Given the description of an element on the screen output the (x, y) to click on. 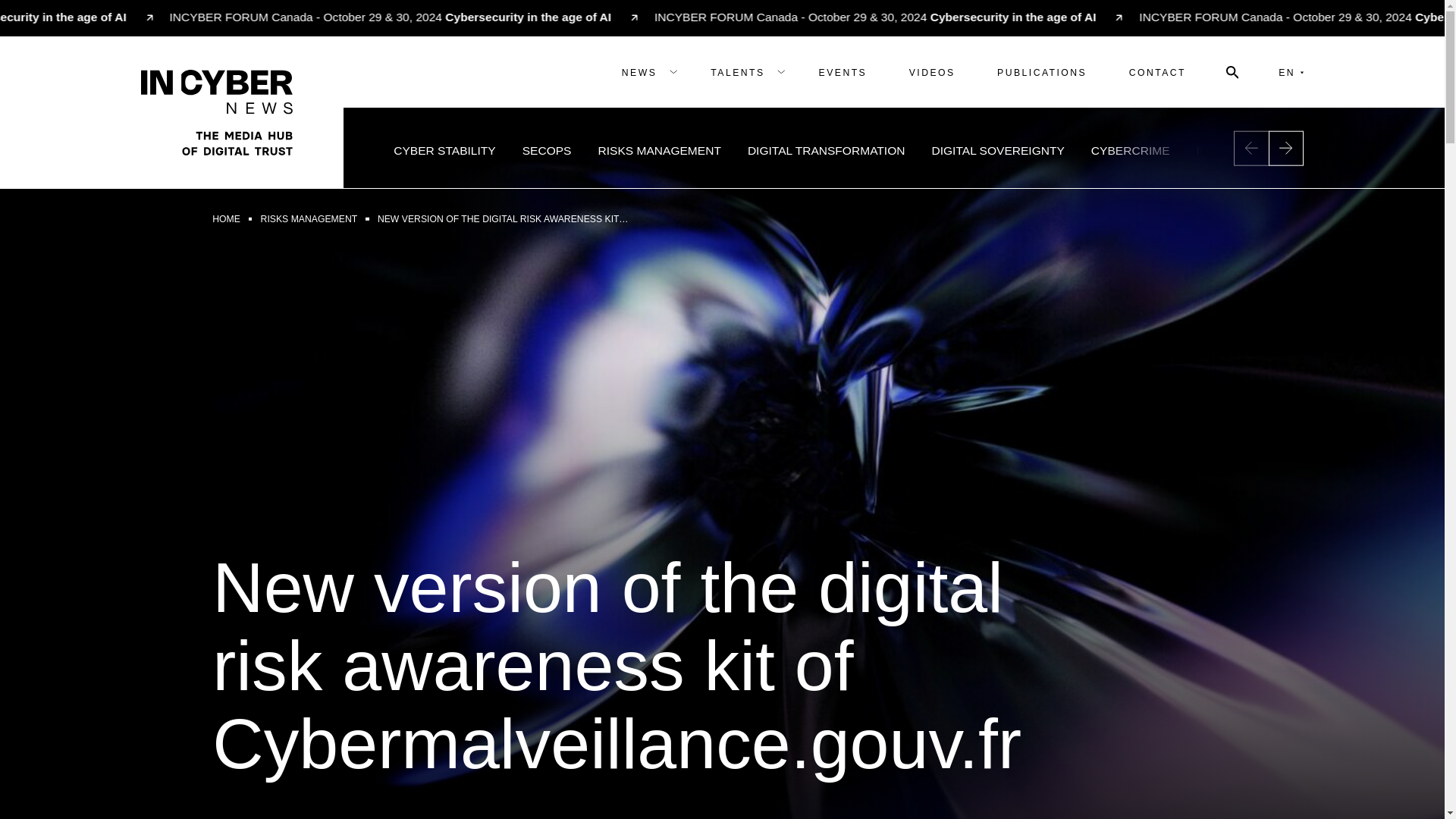
TALENTS (742, 71)
EVENTS (842, 71)
NEWS (644, 71)
VIDEOS (932, 71)
